Given the description of an element on the screen output the (x, y) to click on. 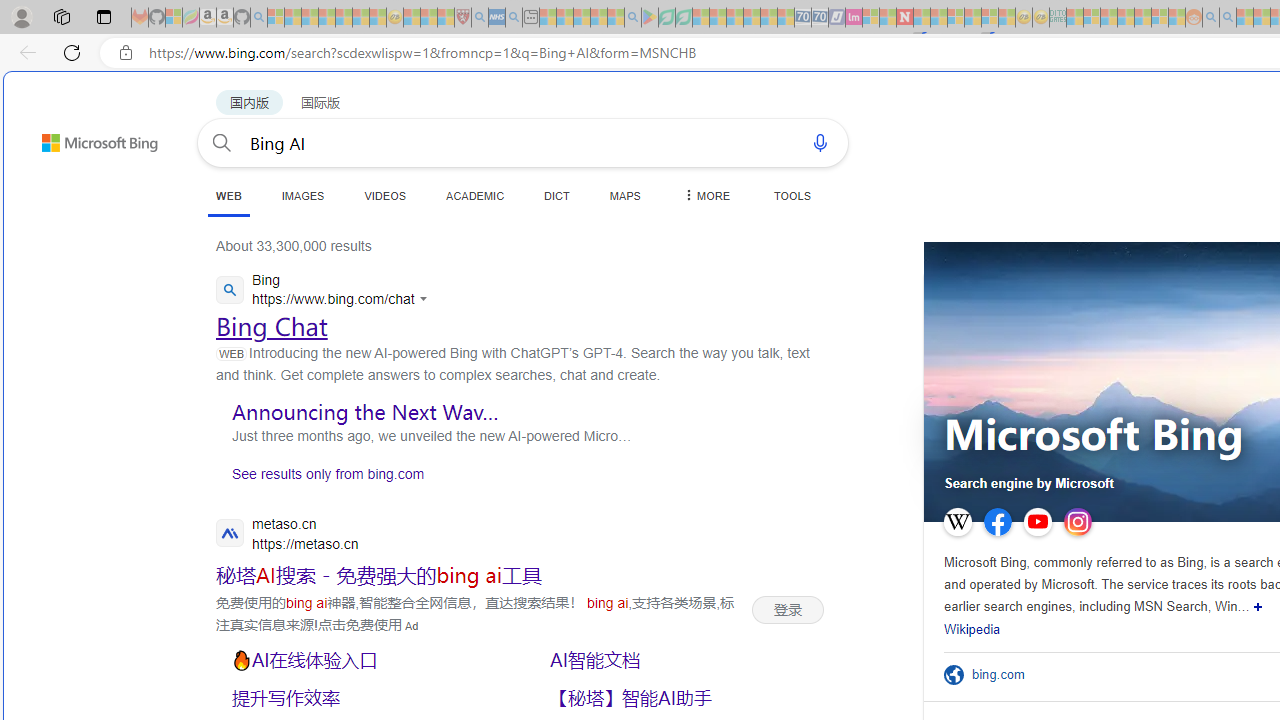
utah sues federal government - Search - Sleeping (513, 17)
Bluey: Let's Play! - Apps on Google Play - Sleeping (649, 17)
Official Site (957, 674)
Class: sp-ofsite (953, 674)
Facebook (998, 521)
SERP,5512 (378, 574)
TOOLS (792, 195)
Instagram (1077, 521)
